Given the description of an element on the screen output the (x, y) to click on. 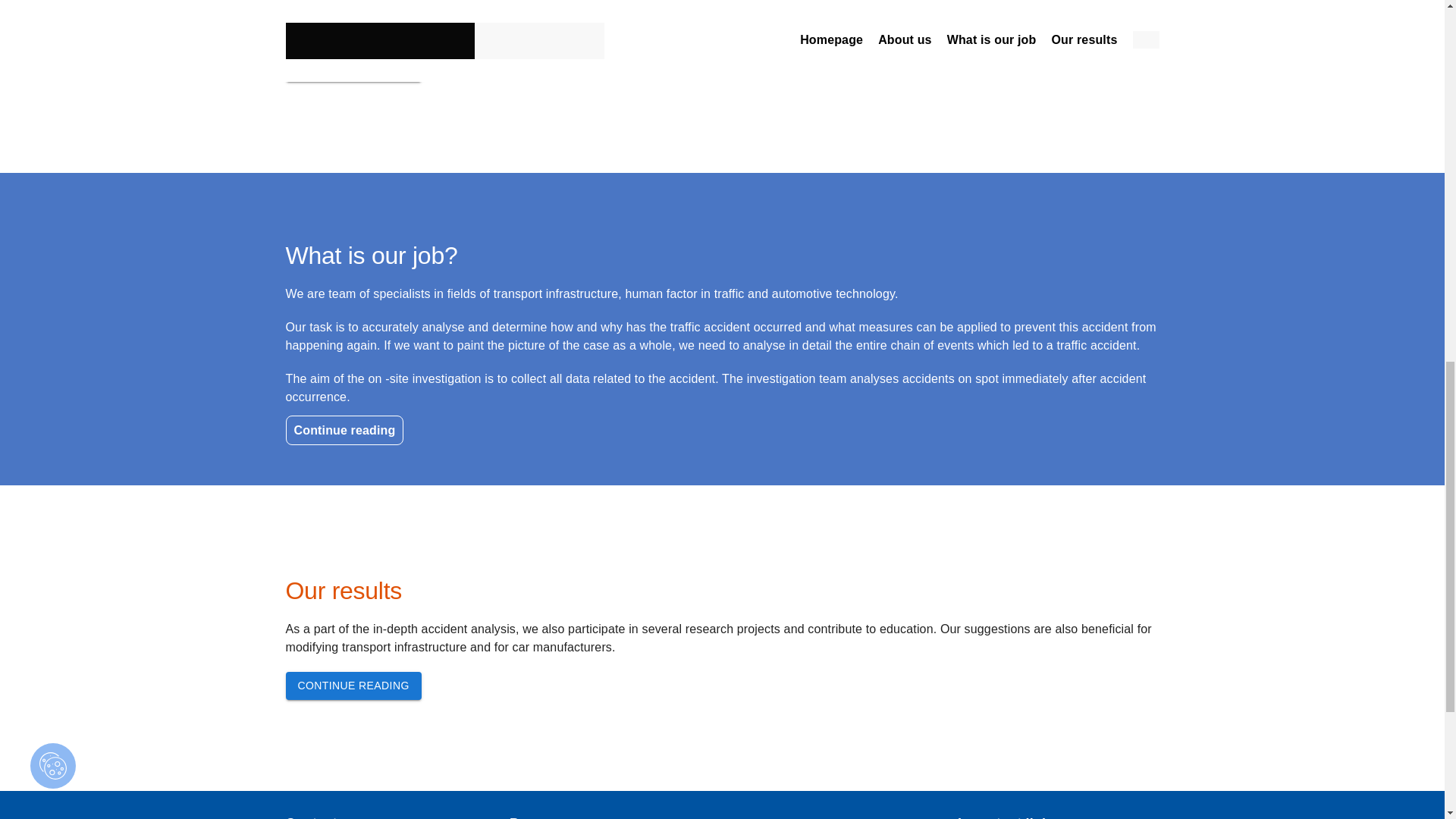
CONTINUE READING (352, 66)
CONTINUE READING (352, 67)
Continue reading (344, 430)
CONTINUE READING (352, 685)
CONTINUE READING (352, 684)
